Given the description of an element on the screen output the (x, y) to click on. 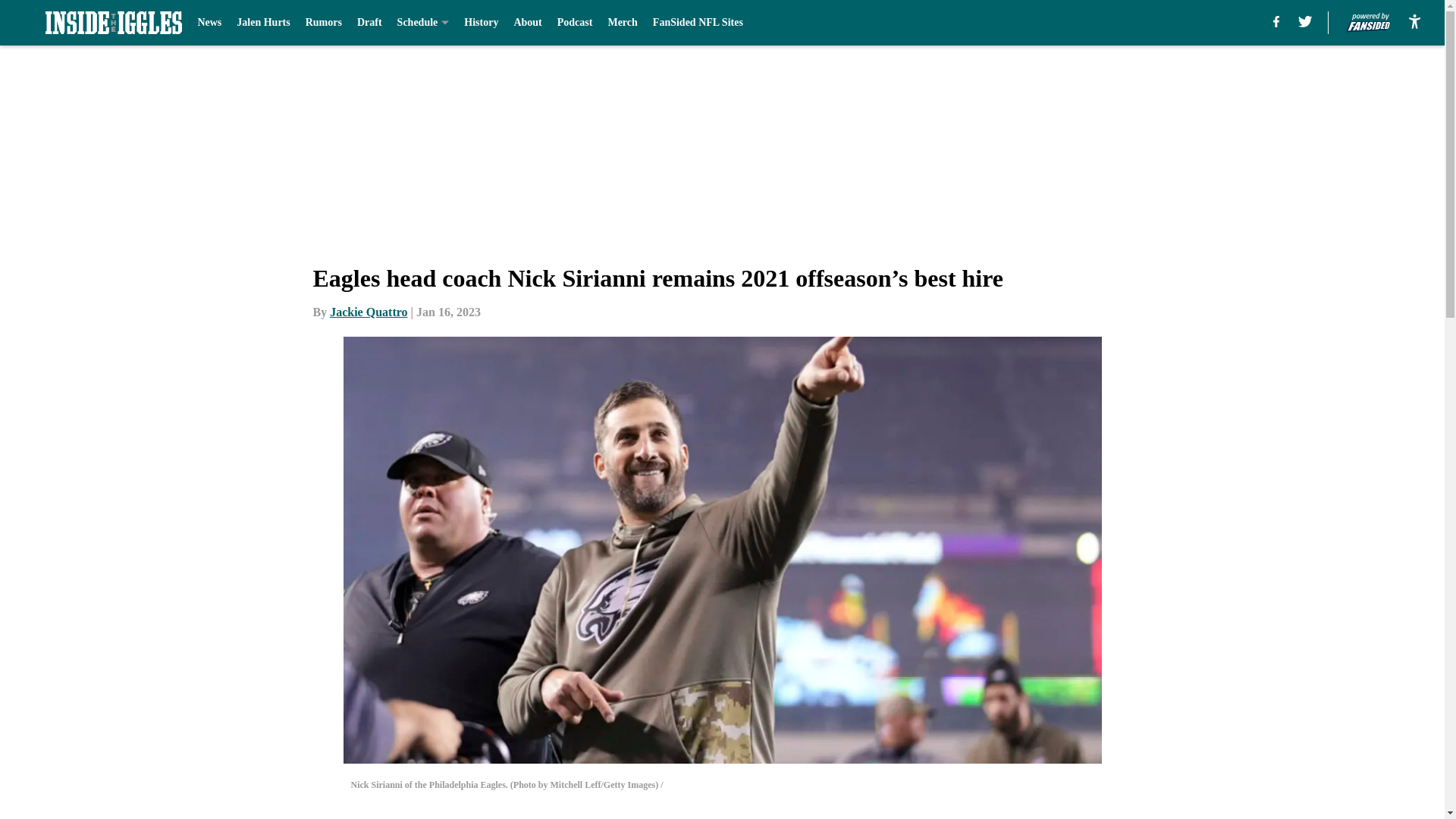
Podcast (574, 22)
Rumors (323, 22)
Draft (368, 22)
News (208, 22)
History (480, 22)
Jackie Quattro (368, 311)
Merch (622, 22)
FanSided NFL Sites (697, 22)
Jalen Hurts (262, 22)
About (527, 22)
